Given the description of an element on the screen output the (x, y) to click on. 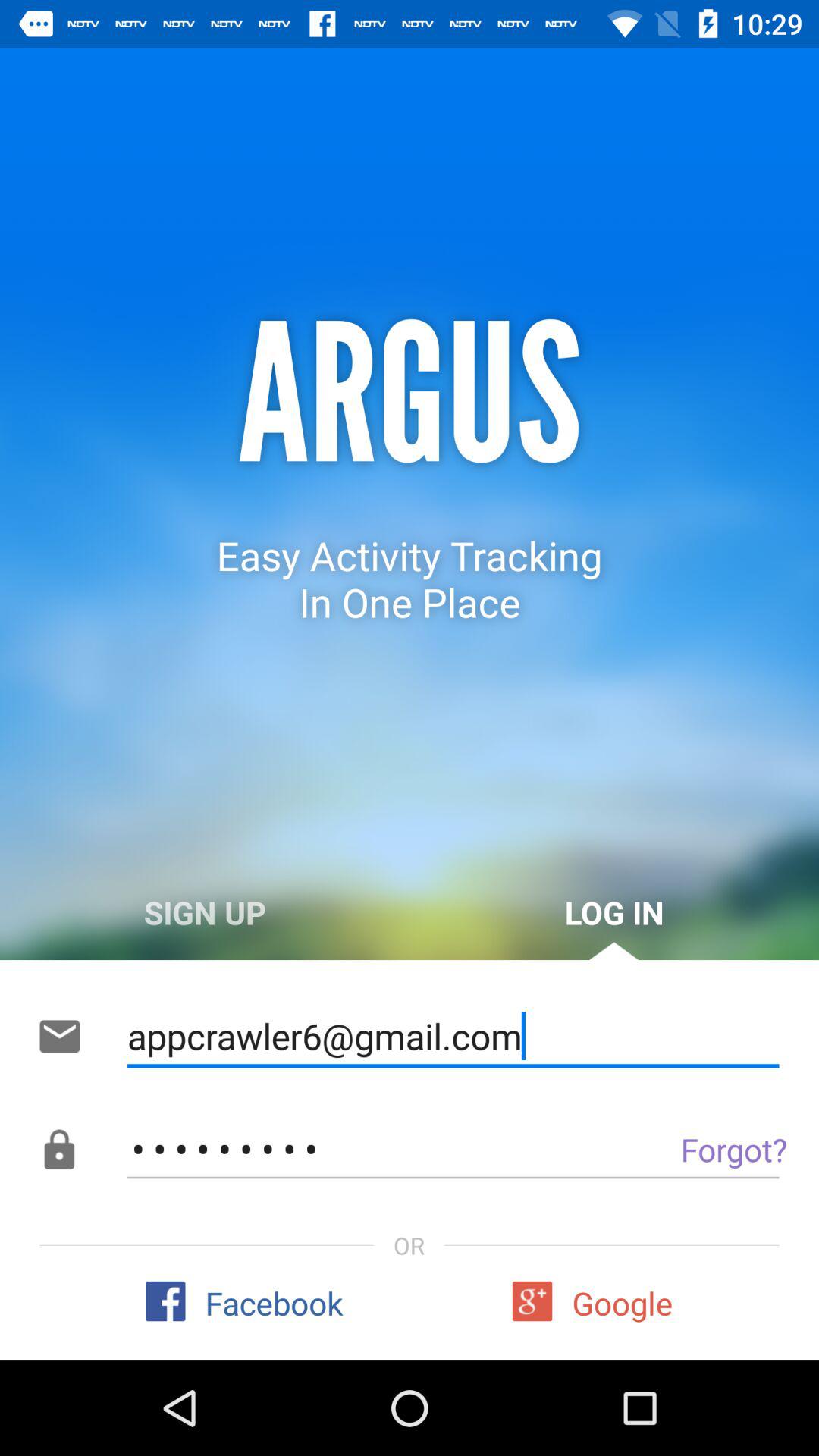
open icon above the forgot? (453, 1036)
